Given the description of an element on the screen output the (x, y) to click on. 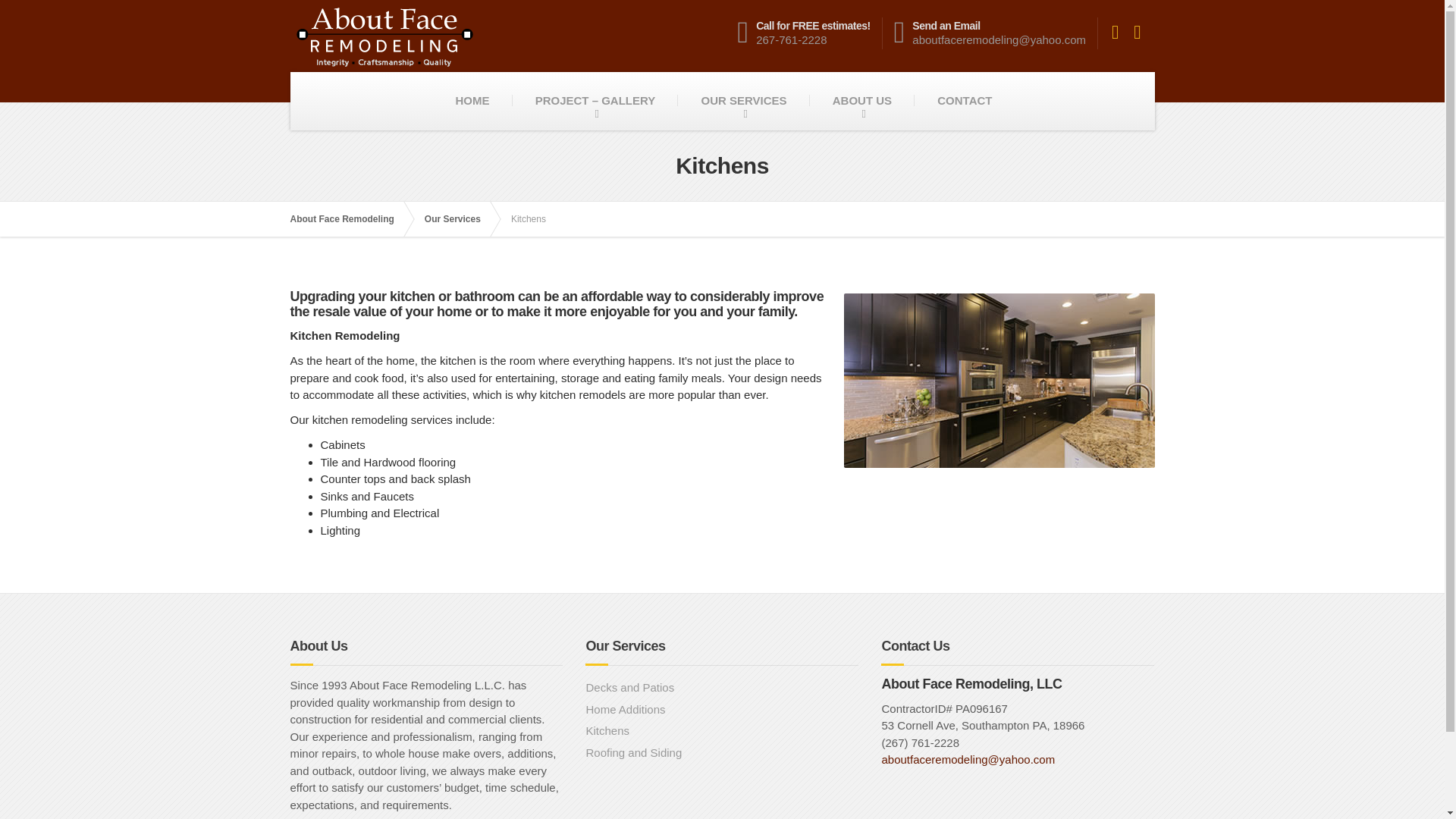
Go to Our Services. (460, 218)
HOME (472, 101)
Kitchens (722, 731)
kitchens (810, 33)
About Face Remodeling (998, 380)
OUR SERVICES (349, 218)
ABOUT US (743, 101)
Home Additions (861, 101)
Go to About Face Remodeling. (722, 710)
Decks and Patios (349, 218)
Our Services (722, 688)
CONTACT (460, 218)
Roofing and Siding (964, 101)
